Given the description of an element on the screen output the (x, y) to click on. 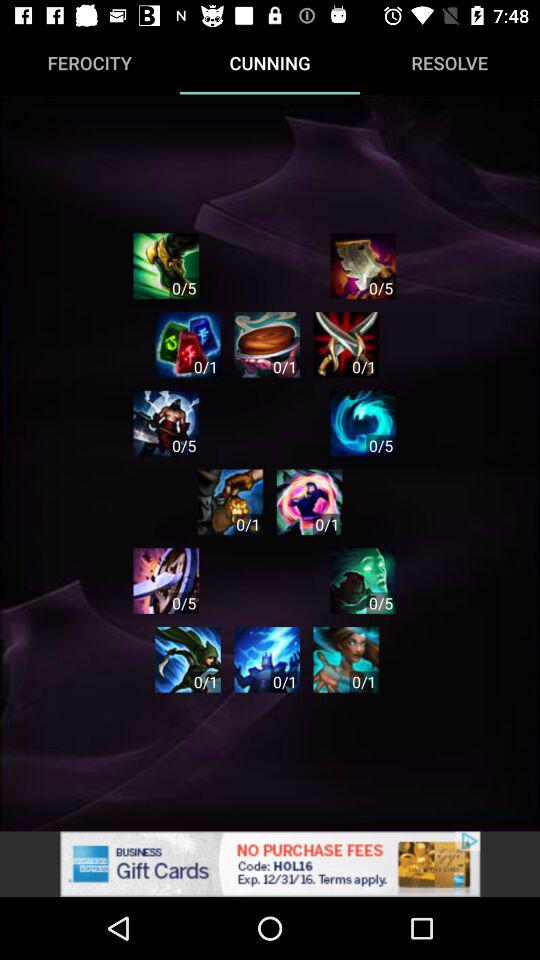
for some image (187, 659)
